Given the description of an element on the screen output the (x, y) to click on. 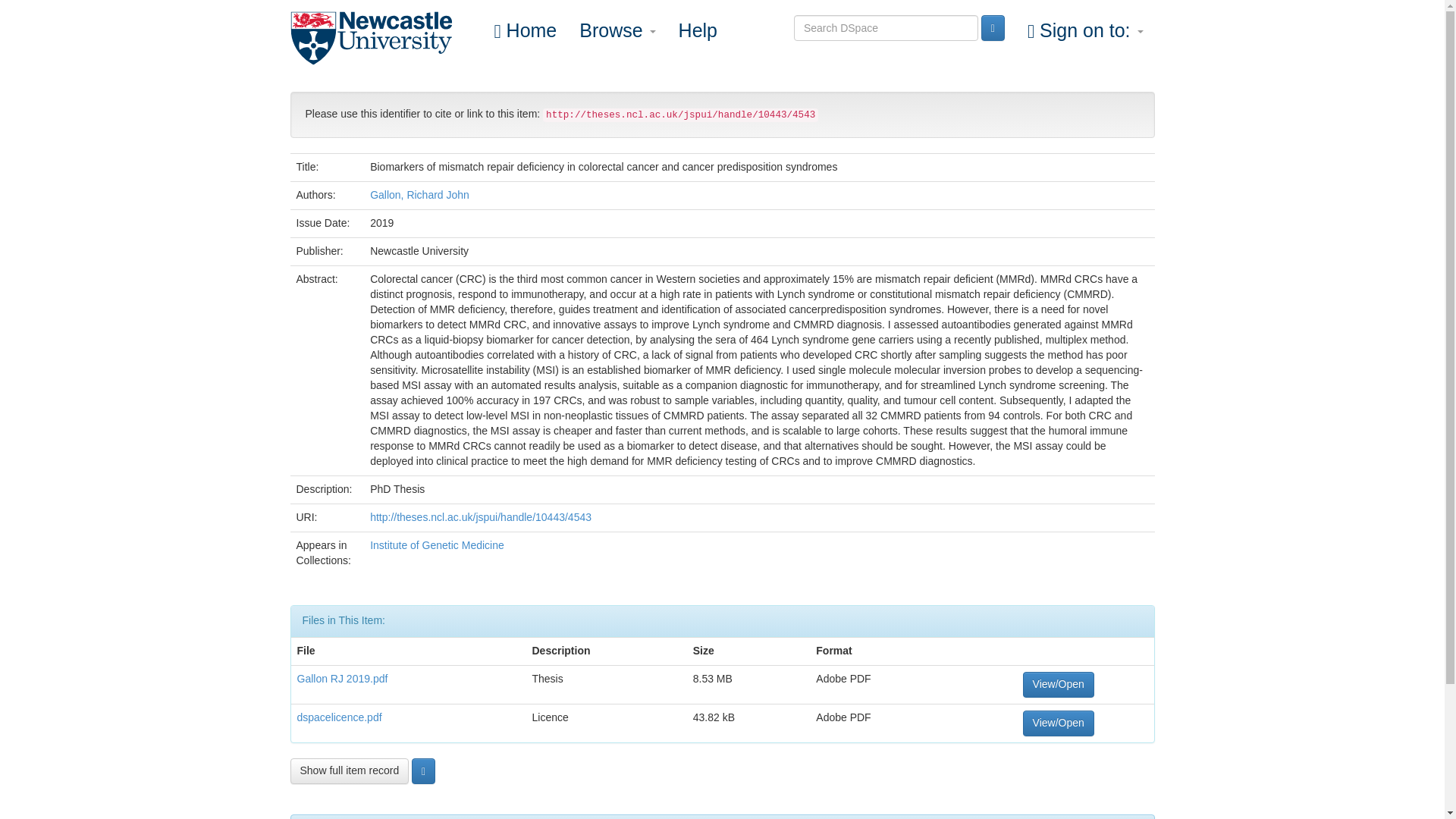
Gallon, Richard John (418, 194)
dspacelicence.pdf (339, 717)
Home (524, 30)
Help (697, 30)
Browse (616, 30)
Show full item record (349, 770)
Gallon RJ 2019.pdf (342, 678)
Sign on to: (1085, 30)
Institute of Genetic Medicine (436, 544)
